Given the description of an element on the screen output the (x, y) to click on. 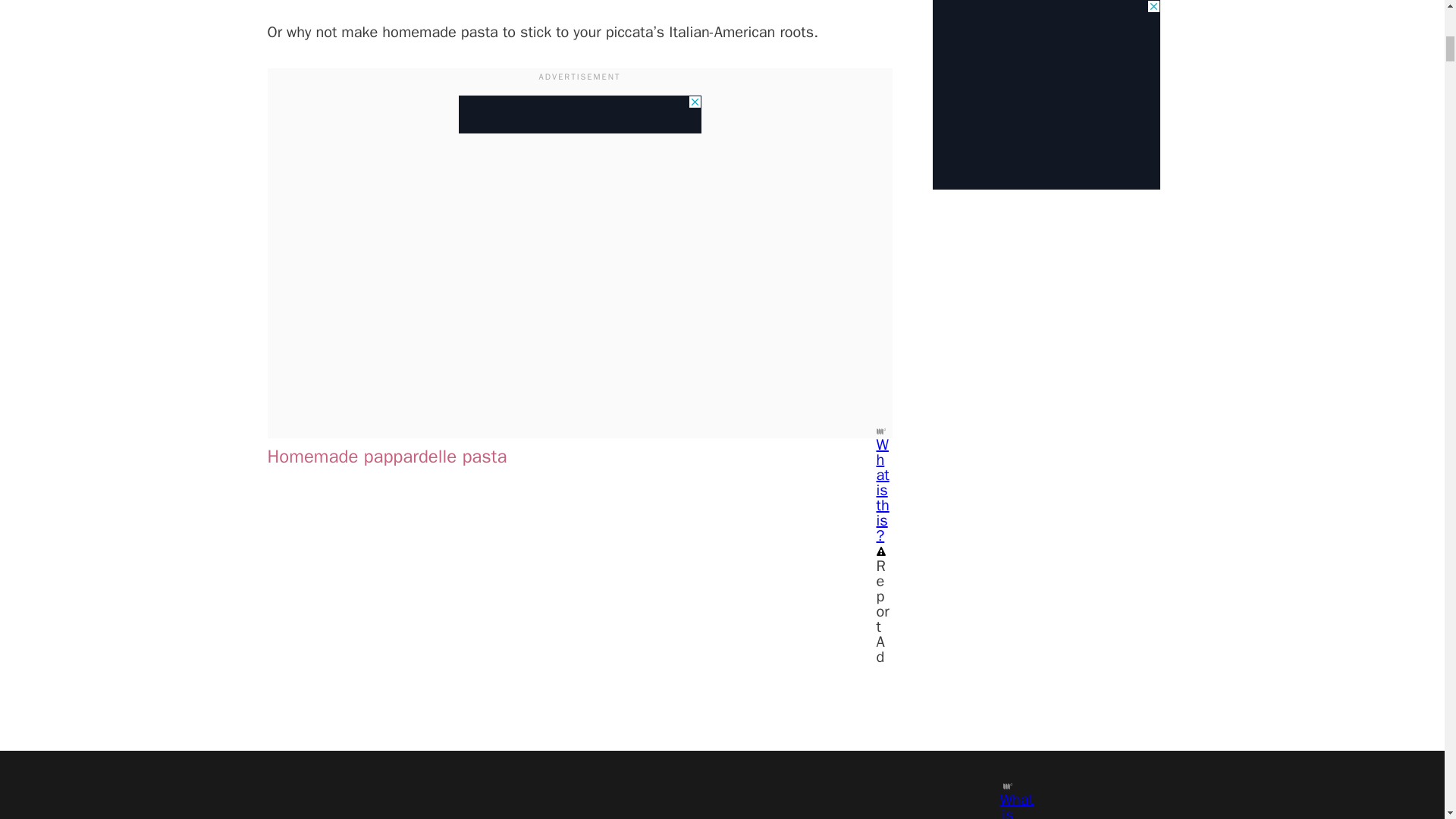
Homemade Pappardelle Pasta (437, 650)
3rd party ad content (579, 114)
